Given the description of an element on the screen output the (x, y) to click on. 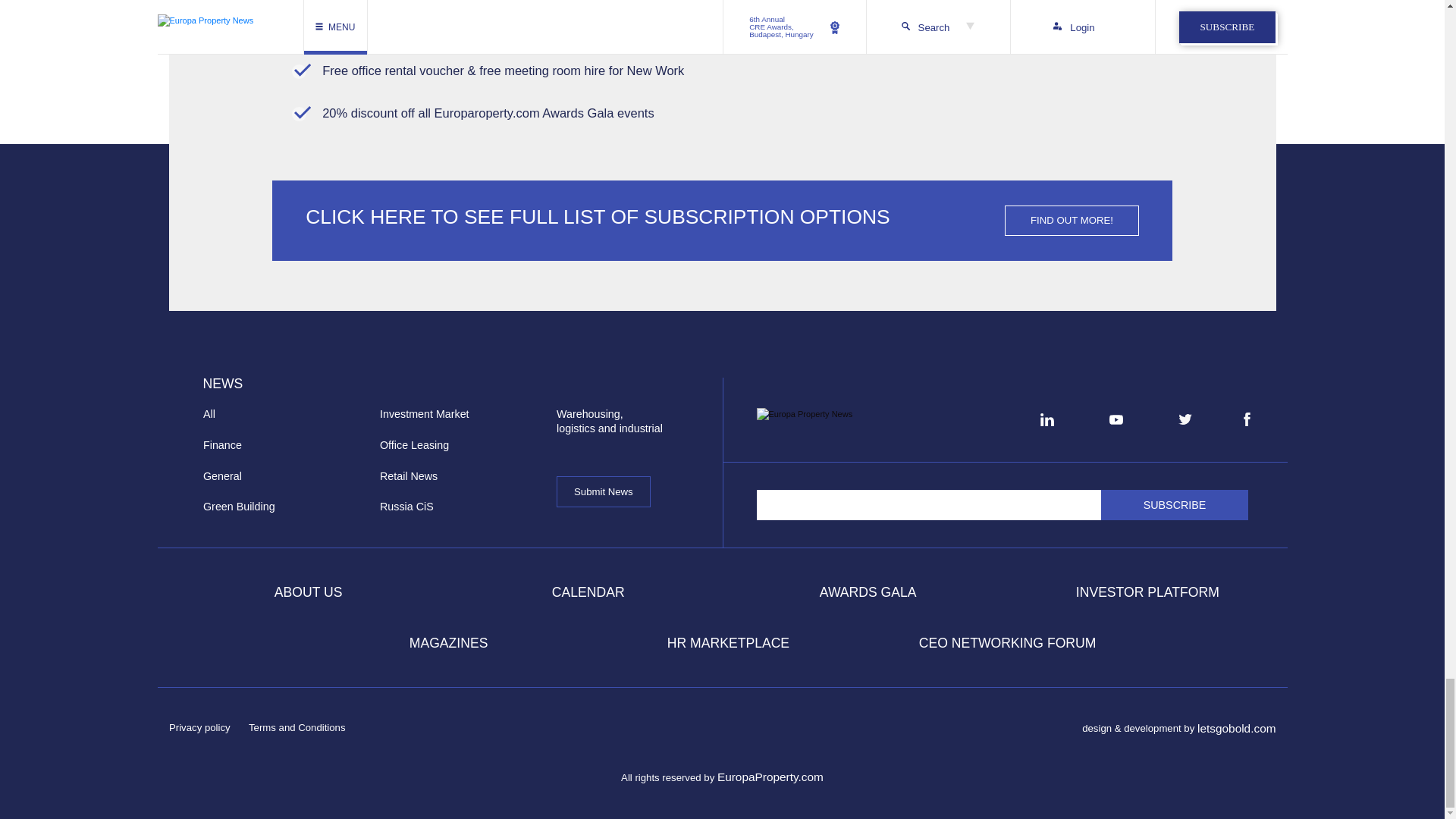
LinkedIn (1047, 419)
Twitter (1184, 418)
YouTube (1116, 419)
Subscribe (1174, 504)
